Given the description of an element on the screen output the (x, y) to click on. 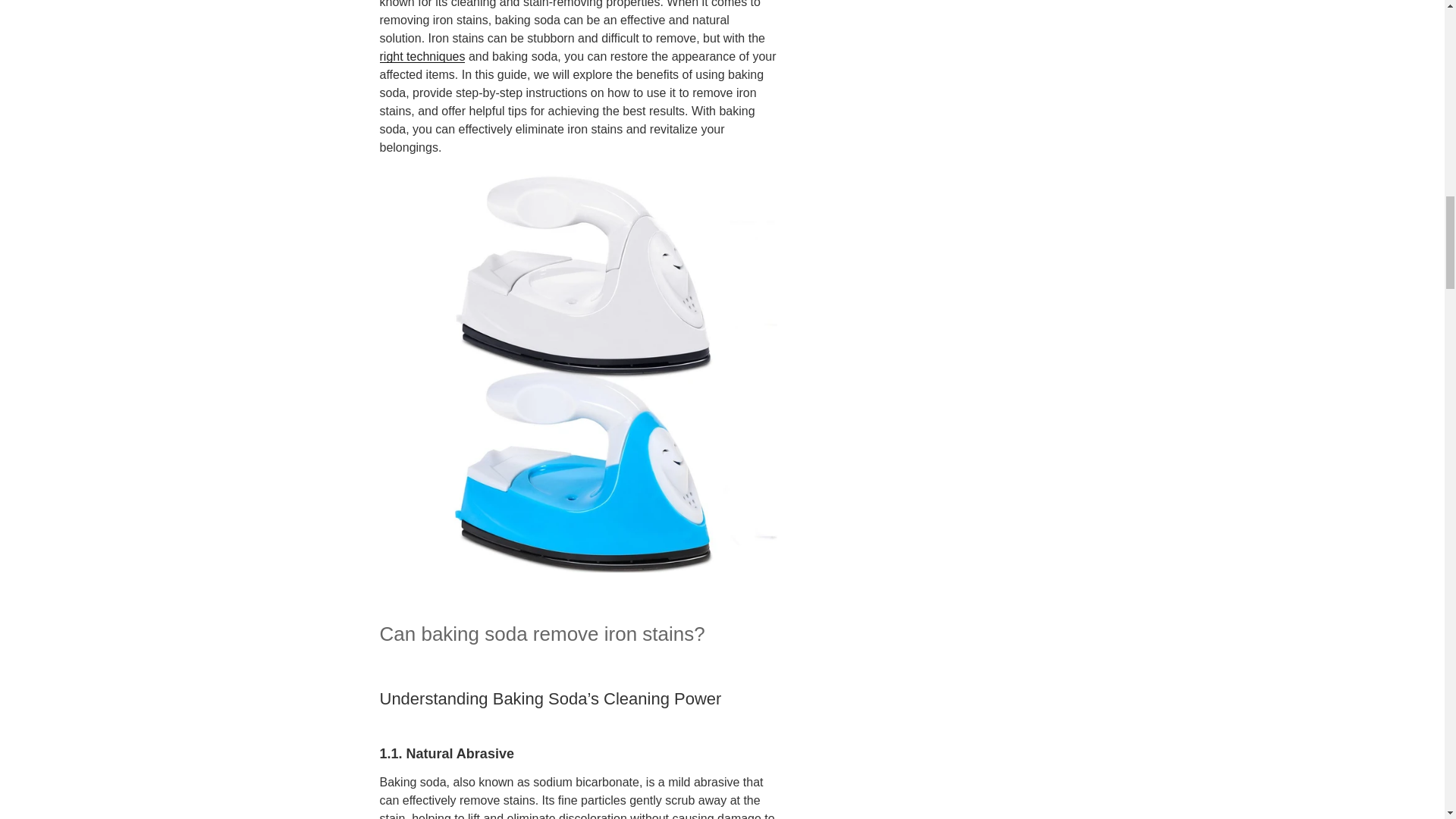
right techniques (421, 56)
